Given the description of an element on the screen output the (x, y) to click on. 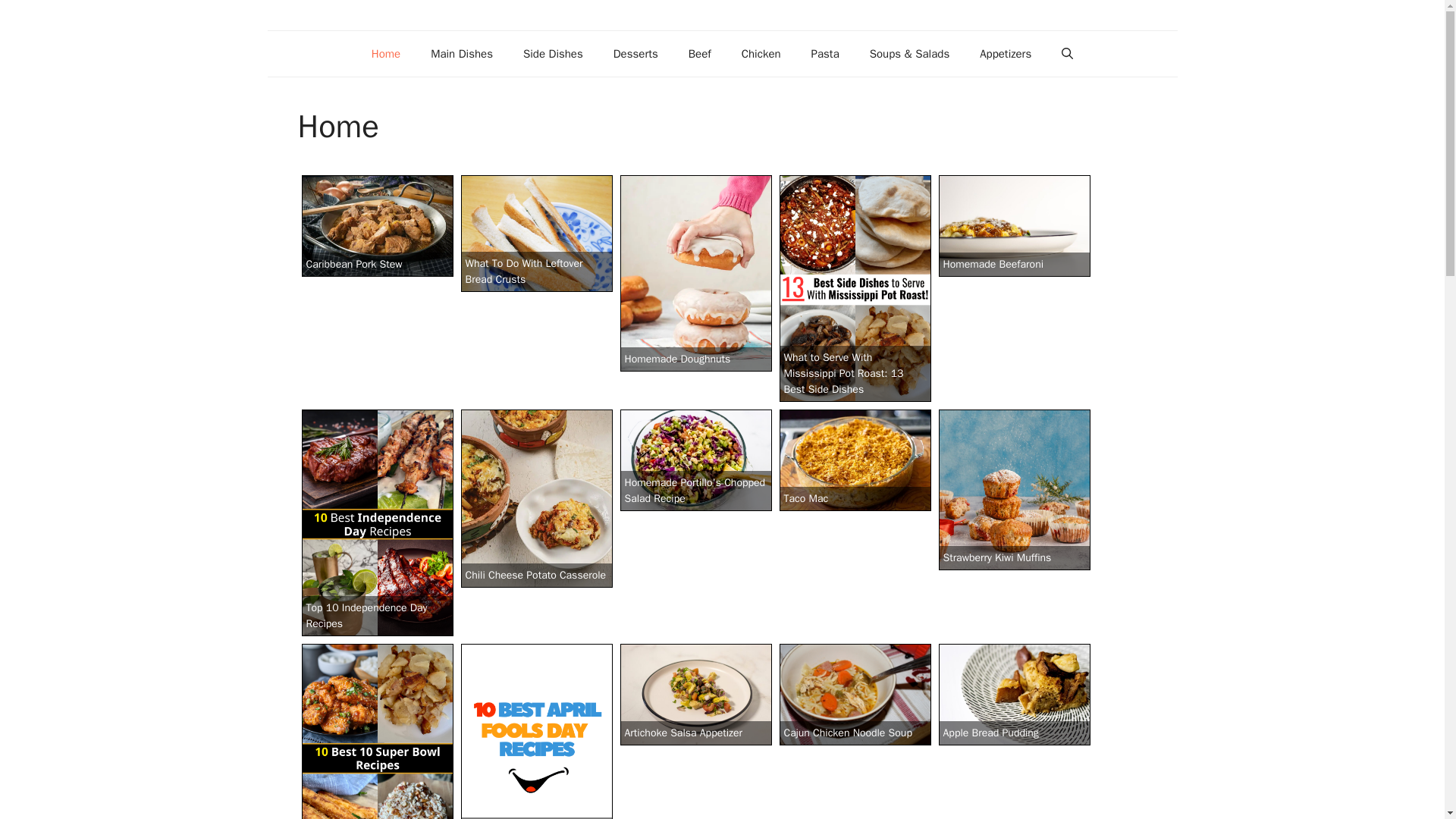
Homemade Beefaroni (1014, 225)
Home (385, 53)
Side Dishes (553, 53)
Strawberry Kiwi Muffins (1014, 489)
Artichoke Salsa Appetizer (695, 694)
Cajun Chicken Noodle Soup (854, 694)
Taco Mac (854, 460)
Desserts (635, 53)
Beef (699, 53)
Pasta (825, 53)
Apple Bread Pudding (1014, 694)
Appetizers (1004, 53)
Homemade Portillo's Chopped Salad Recipe (695, 460)
Main Dishes (461, 53)
Caribbean Pork Stew (376, 225)
